Given the description of an element on the screen output the (x, y) to click on. 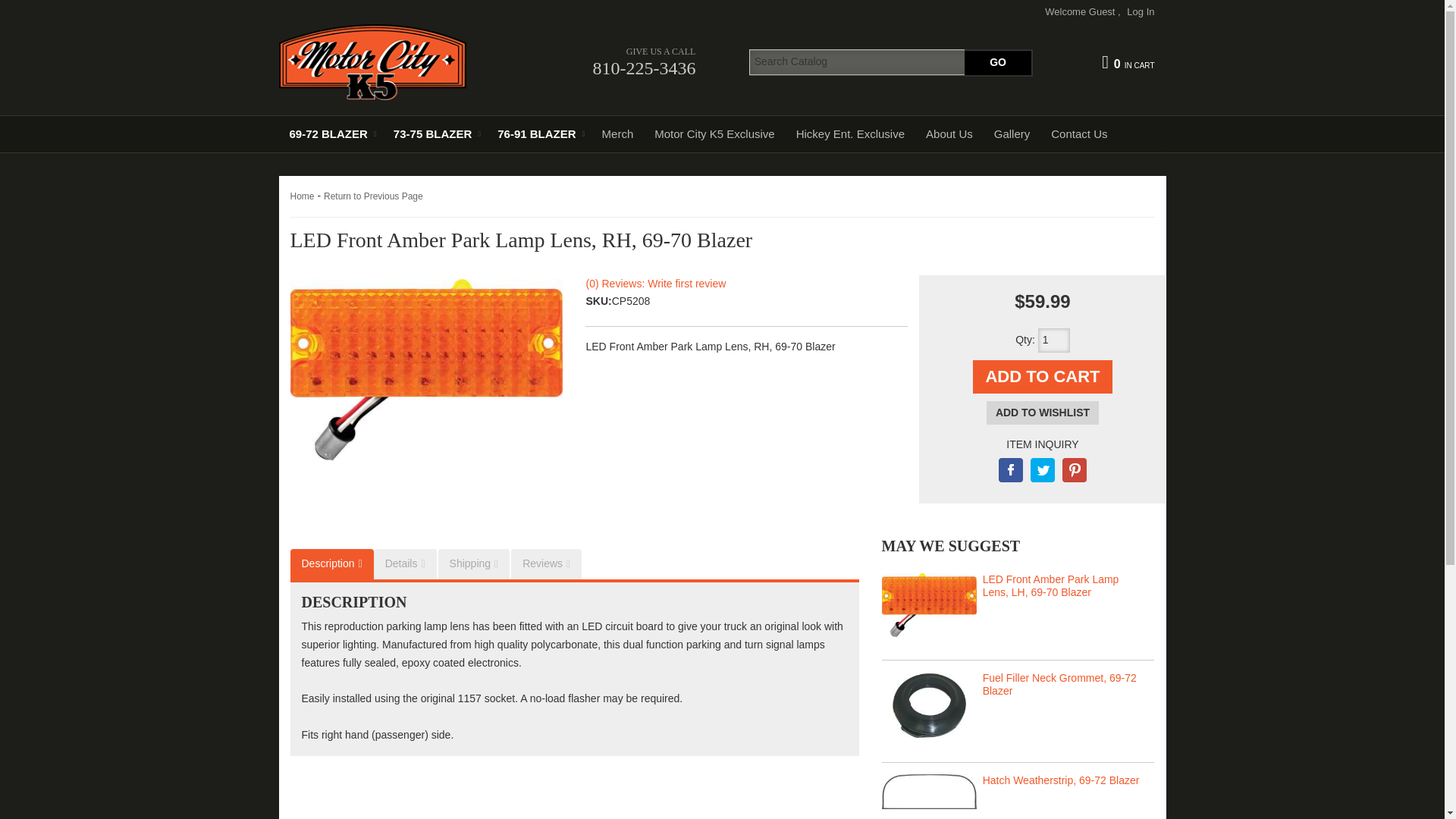
Search Catalog (890, 62)
810-225-3436 (597, 61)
Go (997, 62)
Motor City K5 Homepage (389, 61)
1 (1054, 340)
Log In (1140, 11)
69-72 BLAZER (330, 134)
Search Catalog (890, 62)
call us (597, 61)
Go (997, 62)
73-75 BLAZER (434, 134)
Search Catalog (890, 62)
Go (997, 62)
0 (1128, 61)
Go (997, 62)
